Given the description of an element on the screen output the (x, y) to click on. 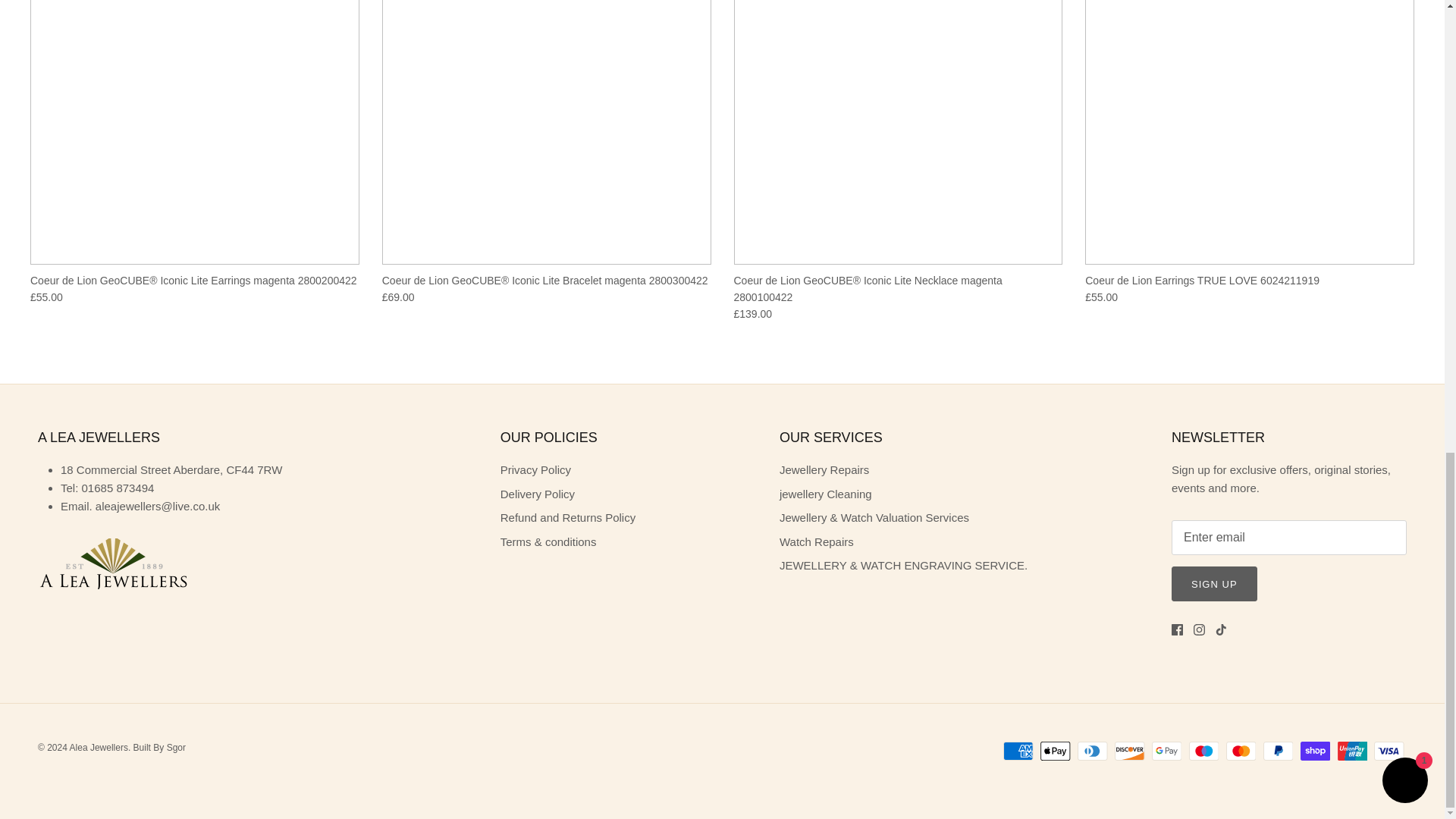
Facebook (1177, 629)
Instagram (1199, 629)
